Given the description of an element on the screen output the (x, y) to click on. 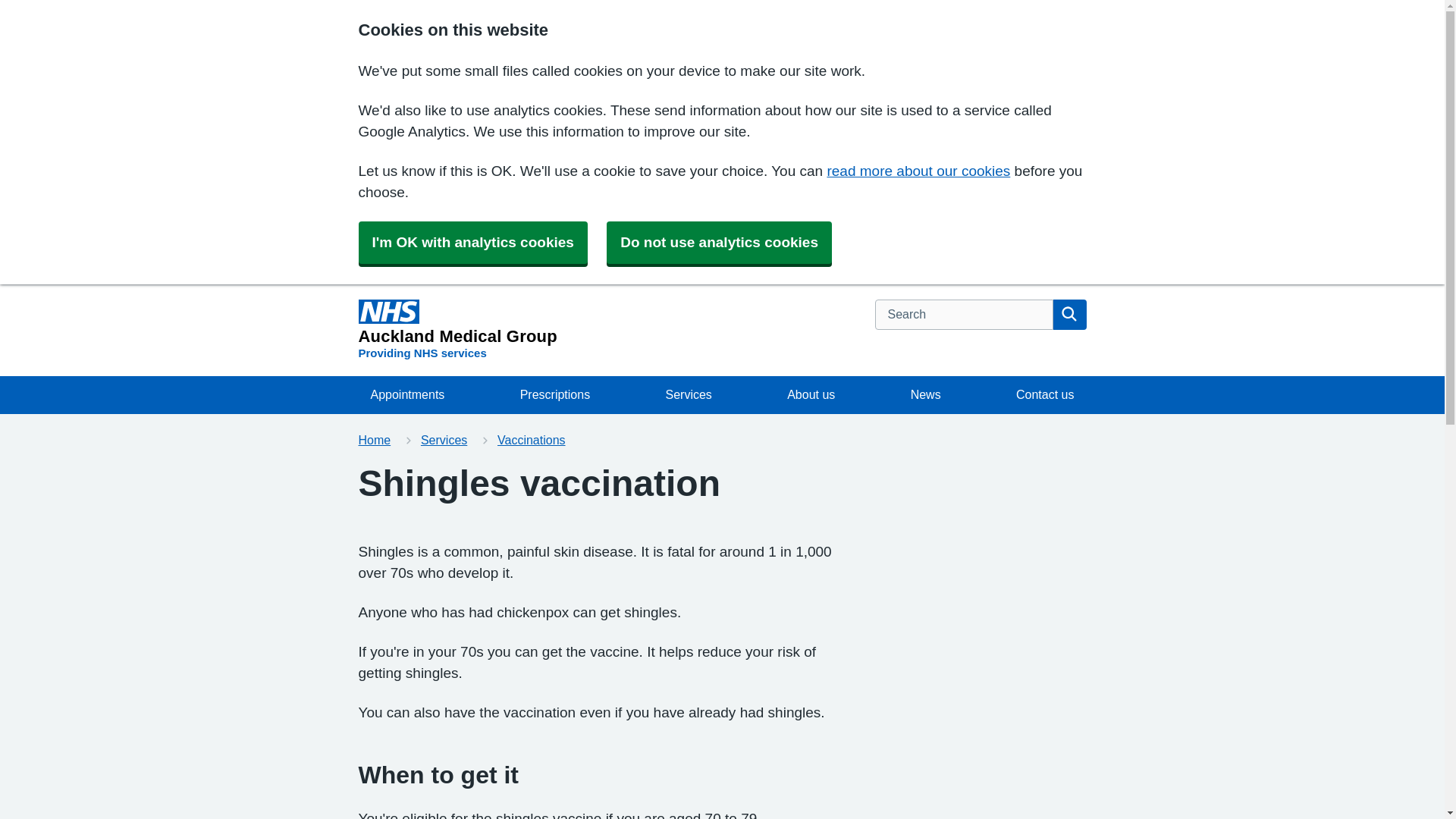
Search (1069, 314)
read more about our cookies (918, 170)
I'm OK with analytics cookies (472, 242)
Do not use analytics cookies (719, 242)
Services (443, 440)
Vaccinations (531, 440)
About us (810, 394)
Services (457, 330)
Appointments (687, 394)
Contact us (407, 394)
Prescriptions (1045, 394)
News (555, 394)
Home (925, 394)
